Given the description of an element on the screen output the (x, y) to click on. 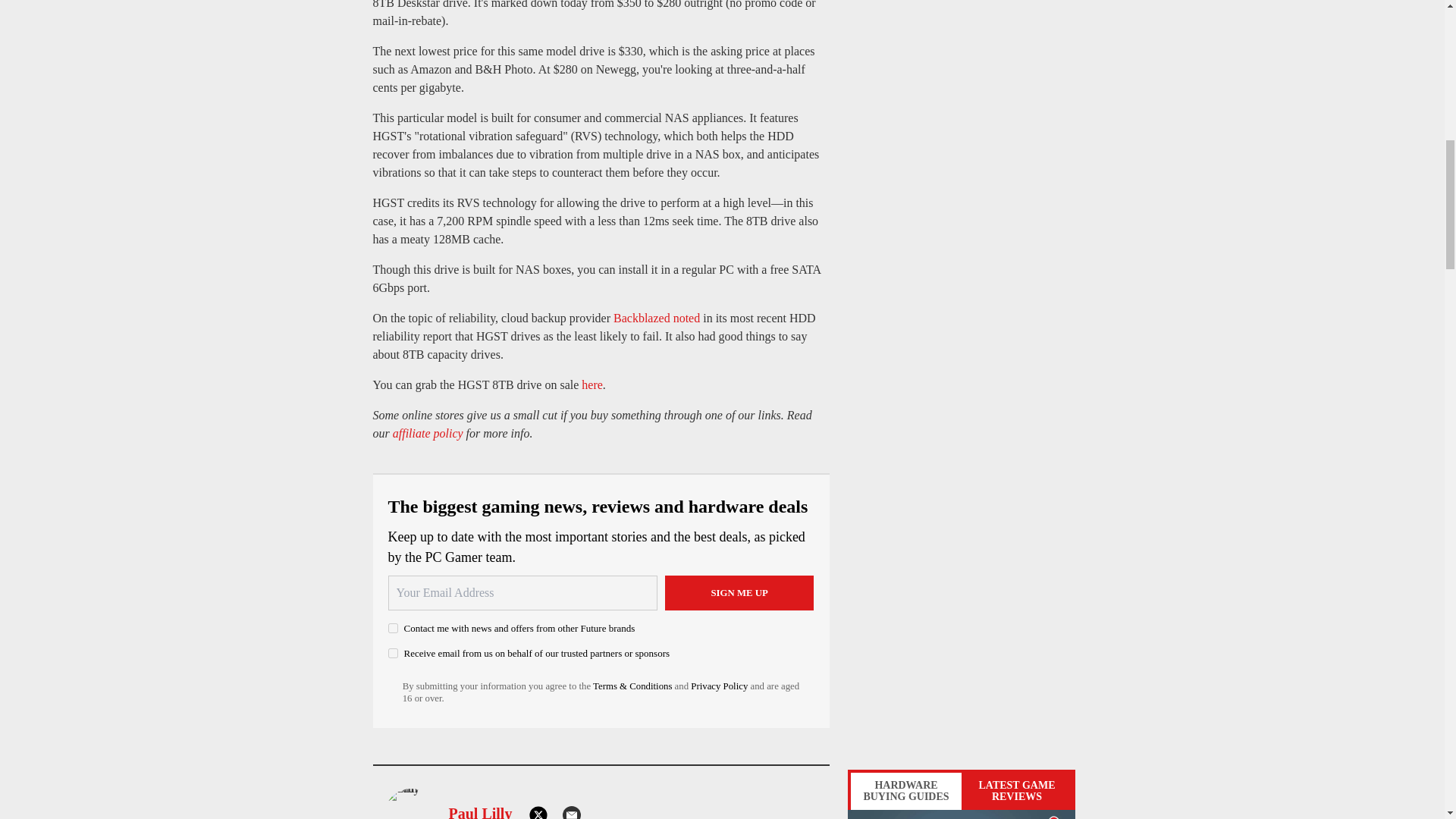
Sign me up (739, 592)
